Given the description of an element on the screen output the (x, y) to click on. 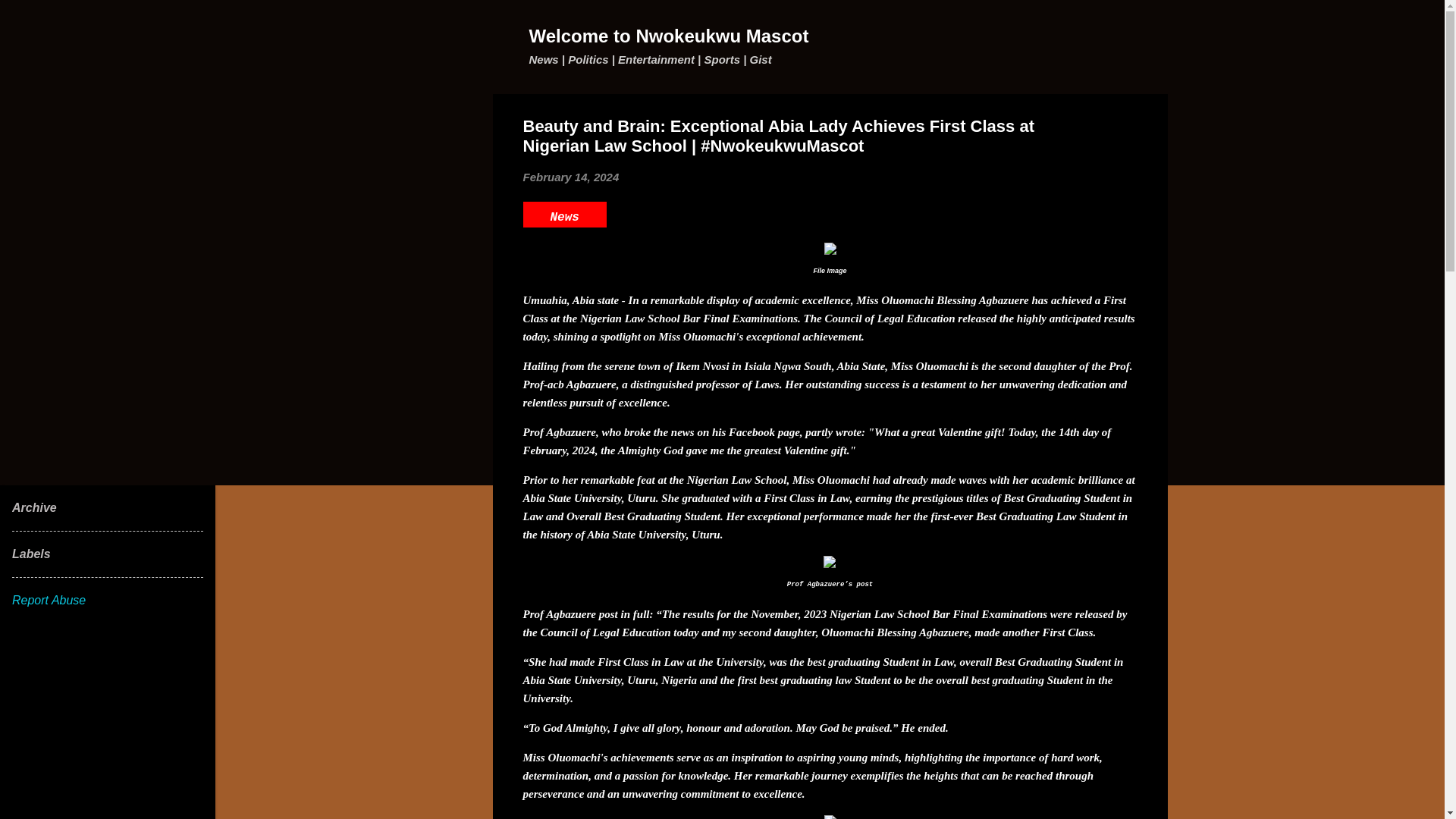
February 14, 2024 (571, 176)
Search (29, 18)
Welcome to Nwokeukwu Mascot (669, 35)
permanent link (571, 176)
